Given the description of an element on the screen output the (x, y) to click on. 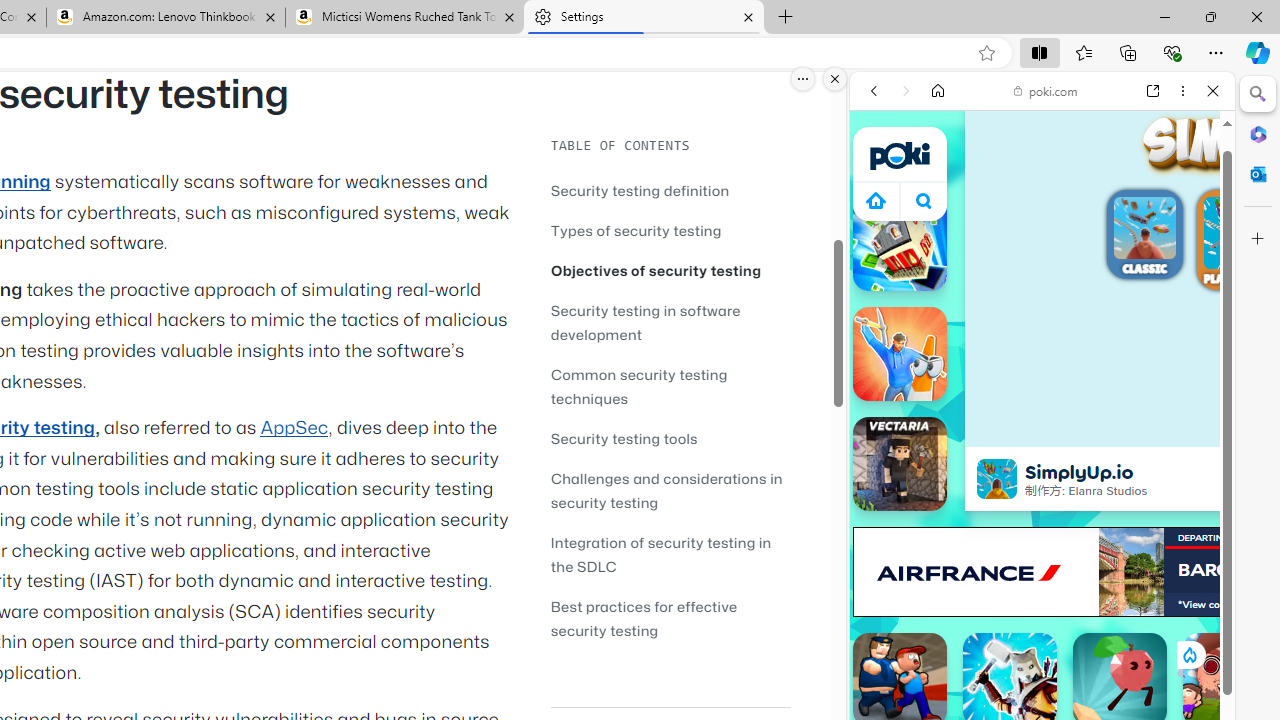
Best practices for effective security testing (644, 618)
Objectives of security testing (655, 270)
Class: B_5ykBA46kDOxiz_R9wm (923, 200)
Vectaria.io (899, 463)
Show More Io Games (1164, 619)
Search Filter, Search Tools (1093, 228)
Open link in new tab (1153, 91)
Sports Games (1042, 665)
Security testing definition (639, 190)
Car Games (1042, 470)
Class: b_serphb (1190, 229)
Show More Two Player Games (1164, 570)
